Given the description of an element on the screen output the (x, y) to click on. 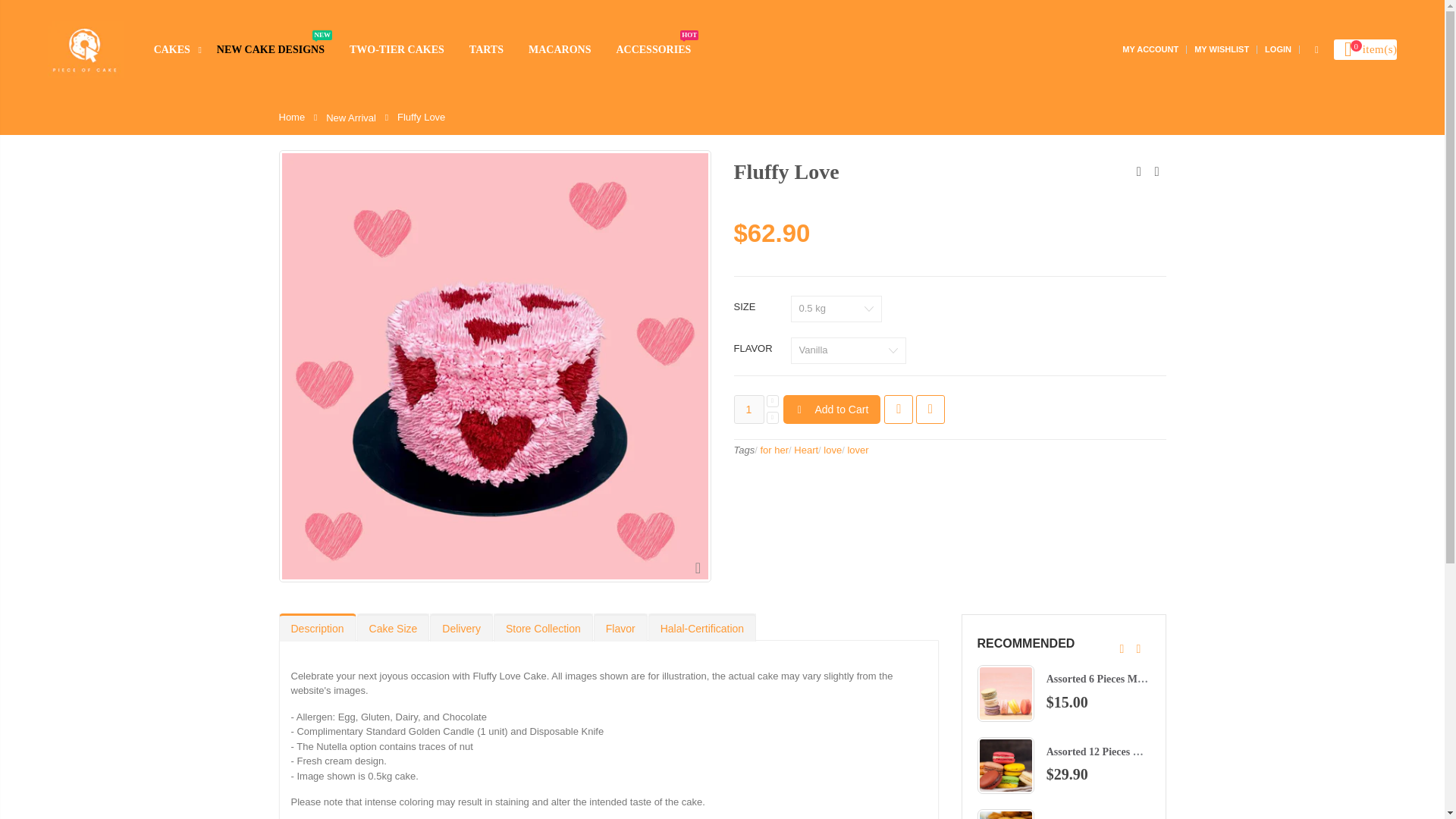
Assorted 6 Pieces Macaron (1107, 678)
1 (748, 409)
MACARONS (566, 49)
LOGIN (1278, 48)
Golden Sparkle Candle-20cm (940, 678)
TWO-TIER CAKES (660, 49)
Golden Number Candle (404, 49)
MY ACCOUNT (927, 751)
CAKES (1149, 48)
Add to compare (181, 49)
Add to wishlist (929, 409)
Back to the frontpage (277, 49)
TARTS (897, 409)
